Given the description of an element on the screen output the (x, y) to click on. 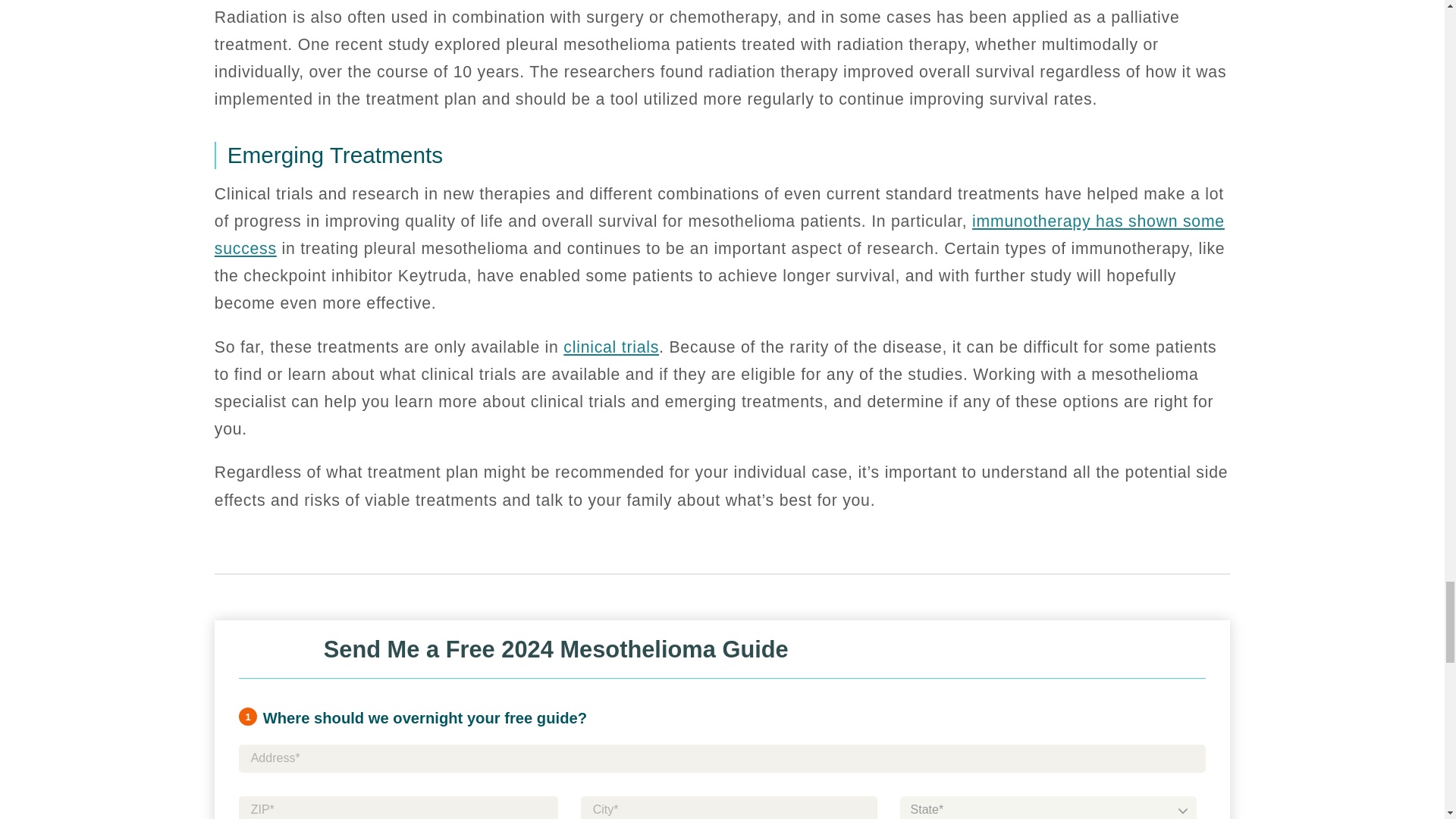
Enter your city. (728, 807)
Enter your street address. (722, 758)
Select your state. (1047, 807)
Enter your zip code. (397, 807)
